Given the description of an element on the screen output the (x, y) to click on. 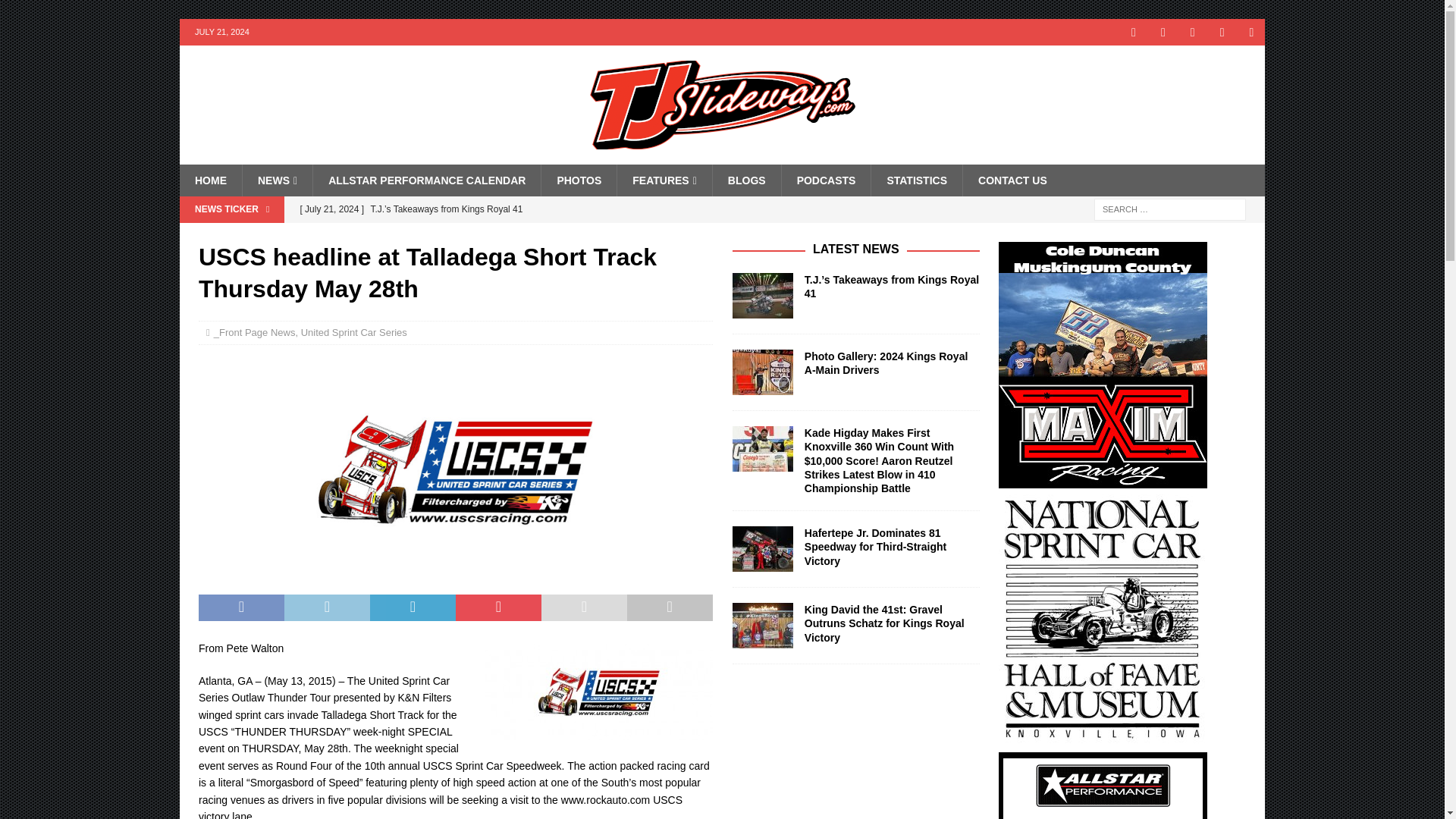
Top Story USCS United Sprint Car Series (455, 469)
NEWS (277, 180)
Photo Gallery:  2024 Kings Royal A-Main Drivers (589, 234)
HOME (210, 180)
